Given the description of an element on the screen output the (x, y) to click on. 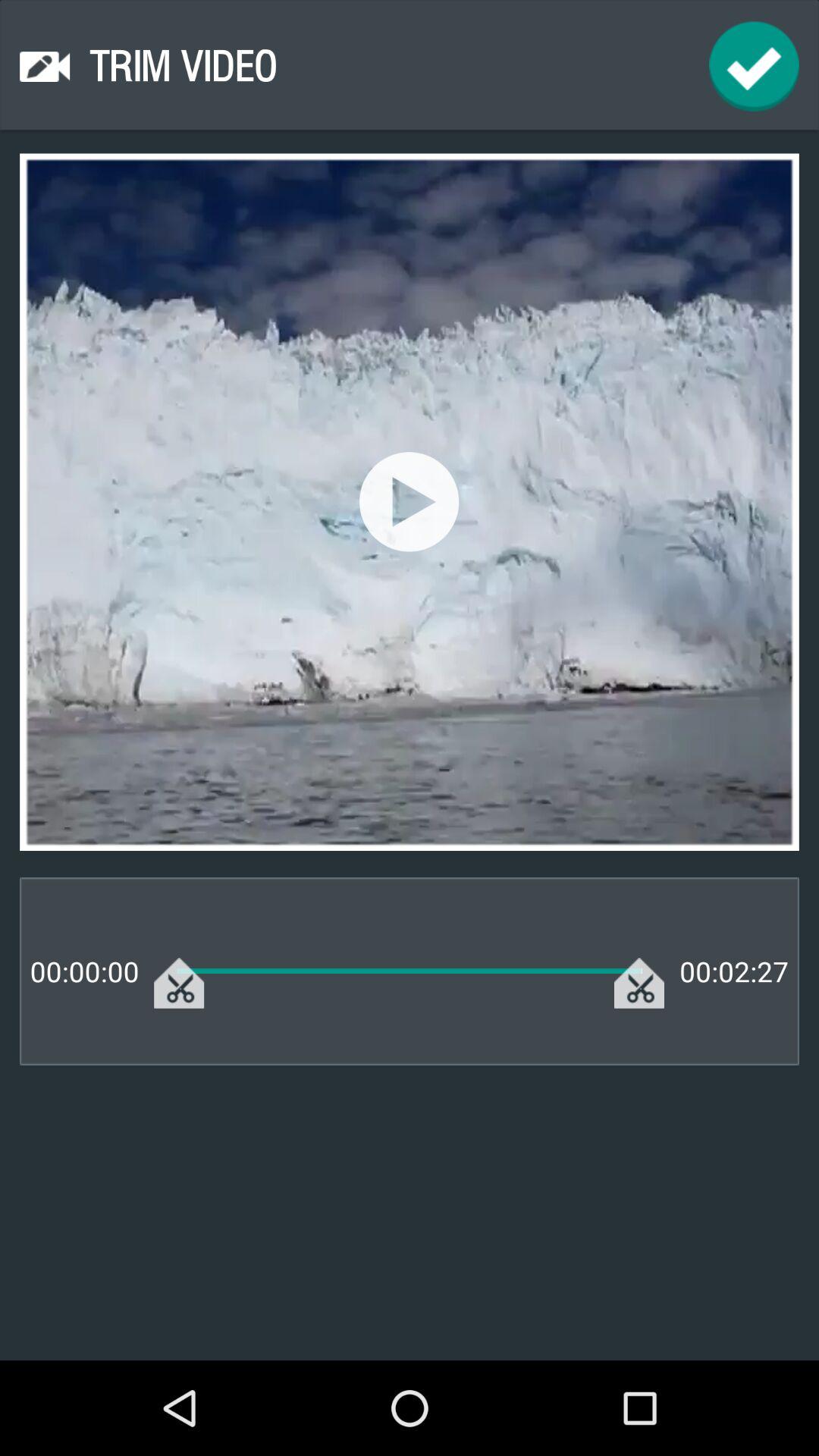
choose icon at the top right corner (754, 66)
